Given the description of an element on the screen output the (x, y) to click on. 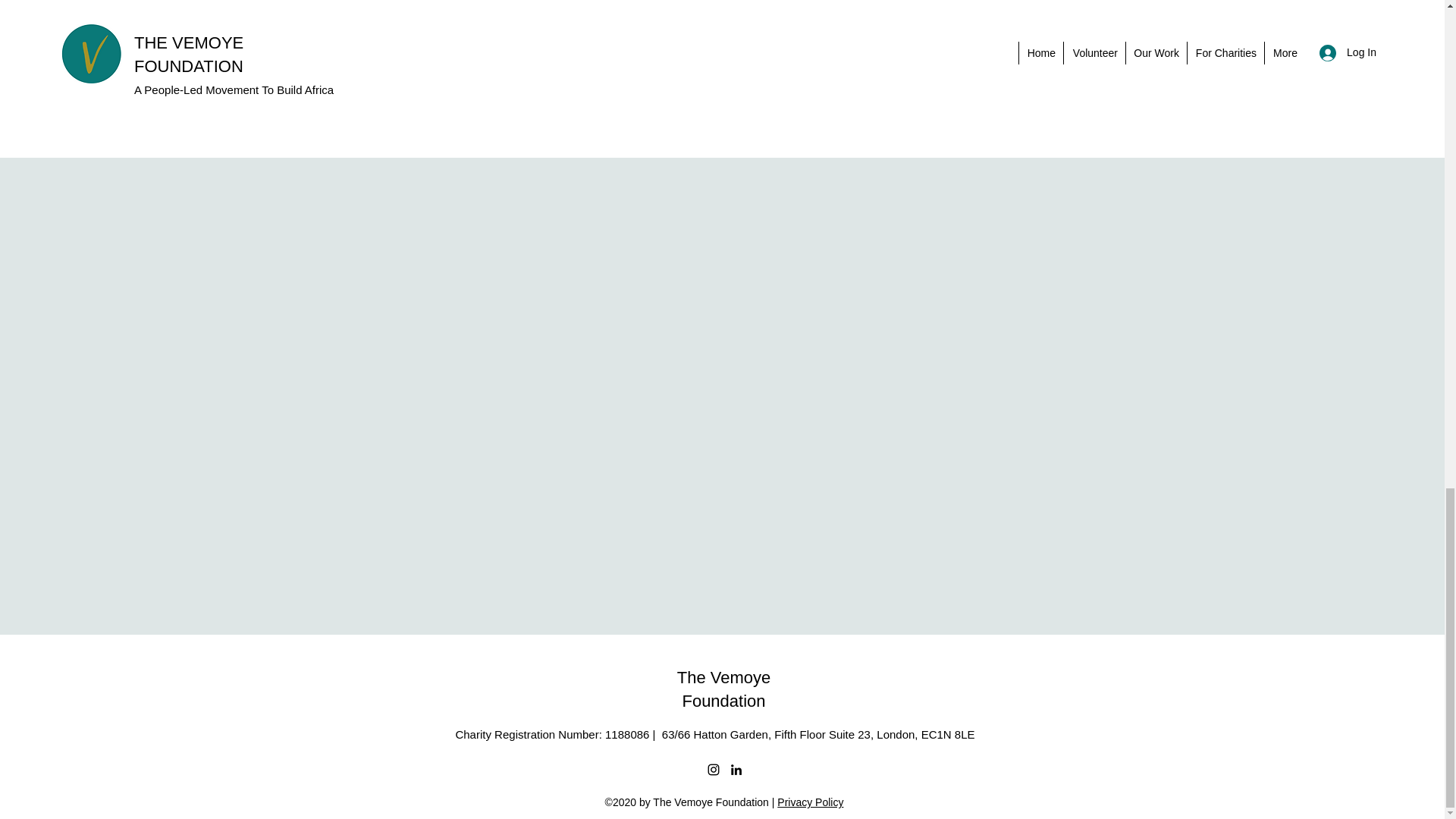
Privacy Policy (810, 802)
The Vemoye Foundation (724, 689)
